Given the description of an element on the screen output the (x, y) to click on. 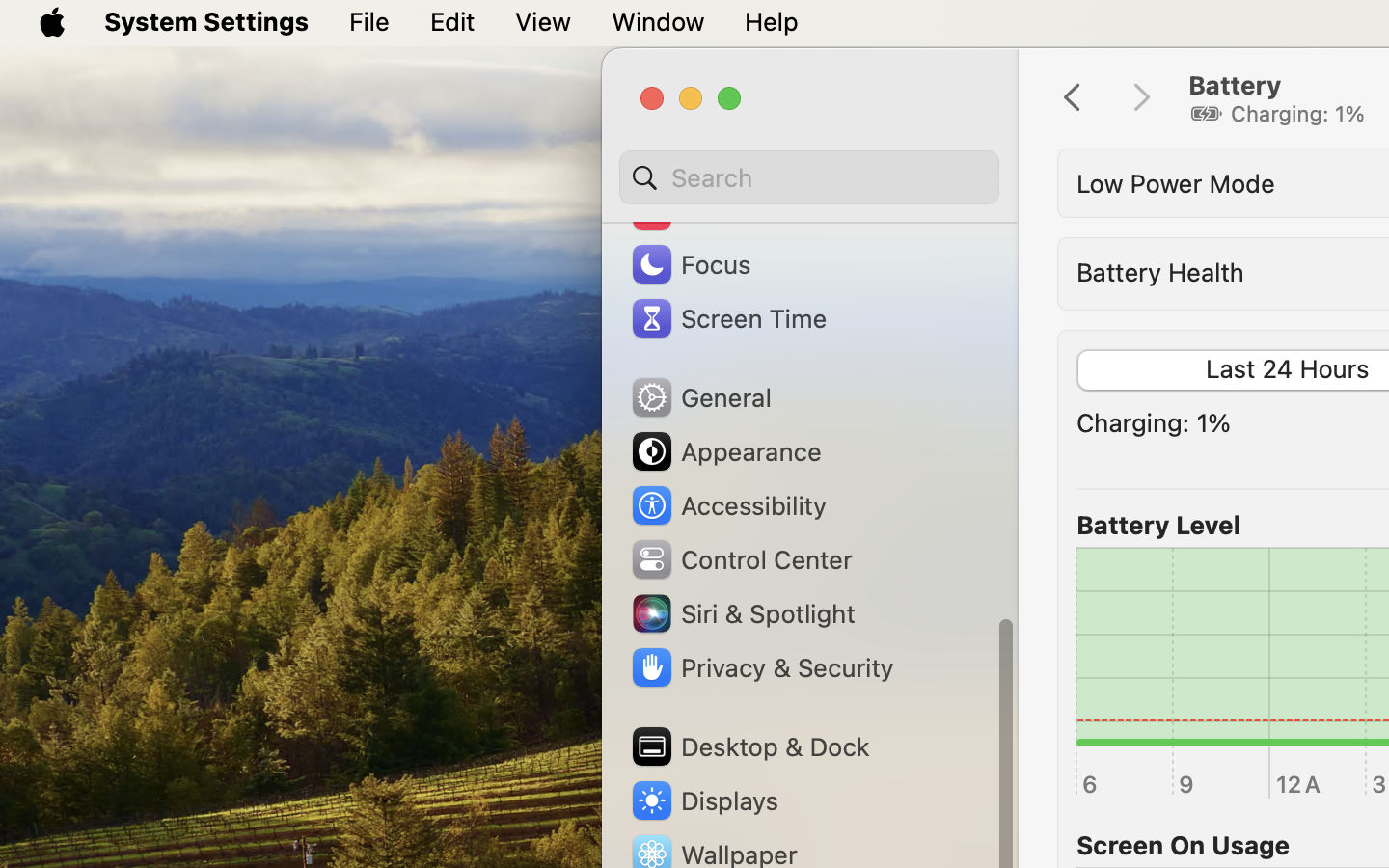
Screen On Usage Element type: AXStaticText (1183, 844)
Battery Level Element type: AXStaticText (1158, 524)
Appearance Element type: AXStaticText (724, 451)
Sound Element type: AXStaticText (692, 210)
Screen Time Element type: AXStaticText (727, 318)
